Given the description of an element on the screen output the (x, y) to click on. 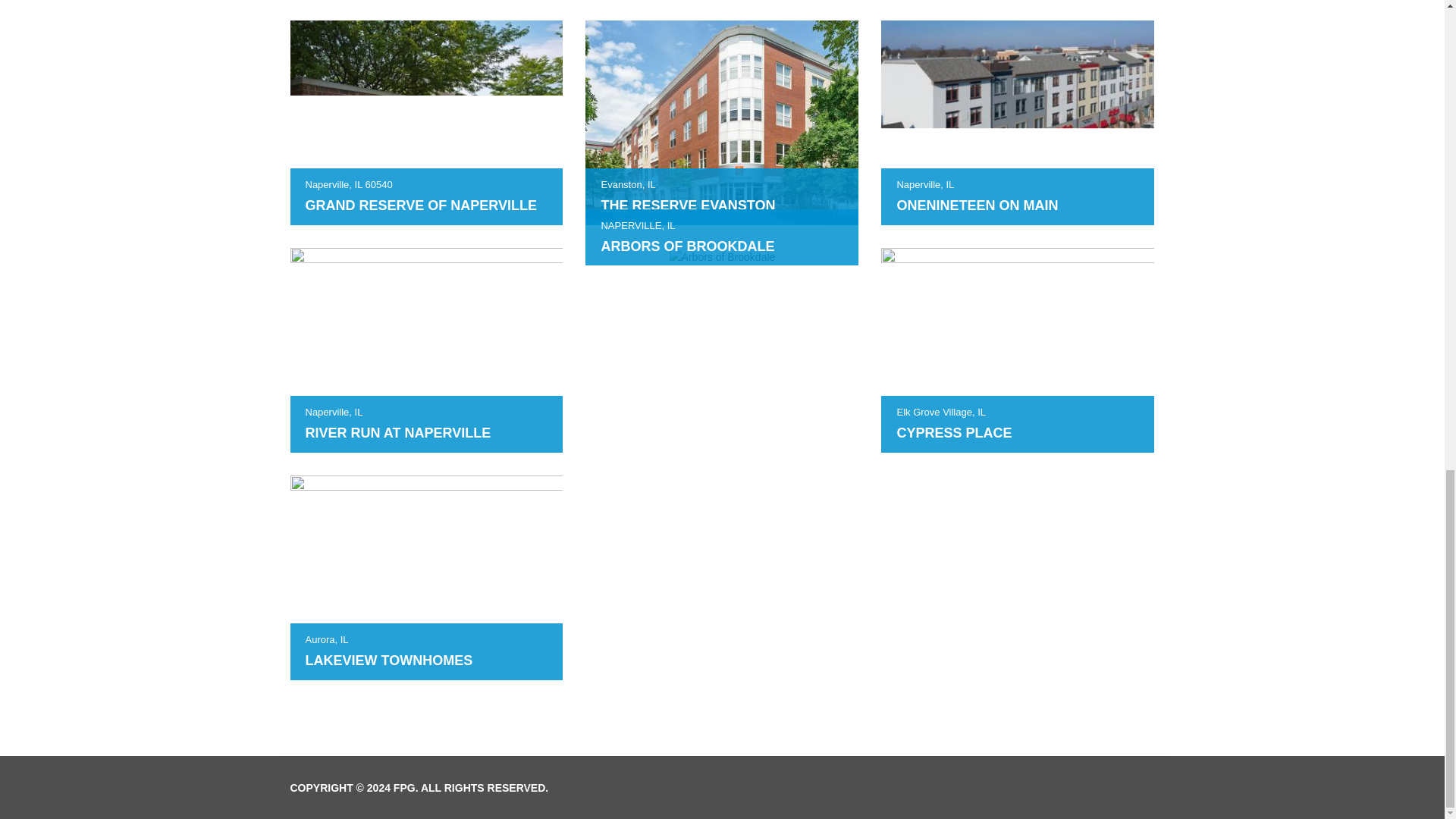
GRAND RESERVE OF NAPERVILLE (419, 205)
RIVER RUN AT NAPERVILLE (397, 432)
ONENINETEEN ON MAIN (977, 205)
LAKEVIEW TOWNHOMES (387, 660)
ARBORS OF BROOKDALE (686, 246)
THE RESERVE EVANSTON (686, 205)
CYPRESS PLACE (953, 432)
